Given the description of an element on the screen output the (x, y) to click on. 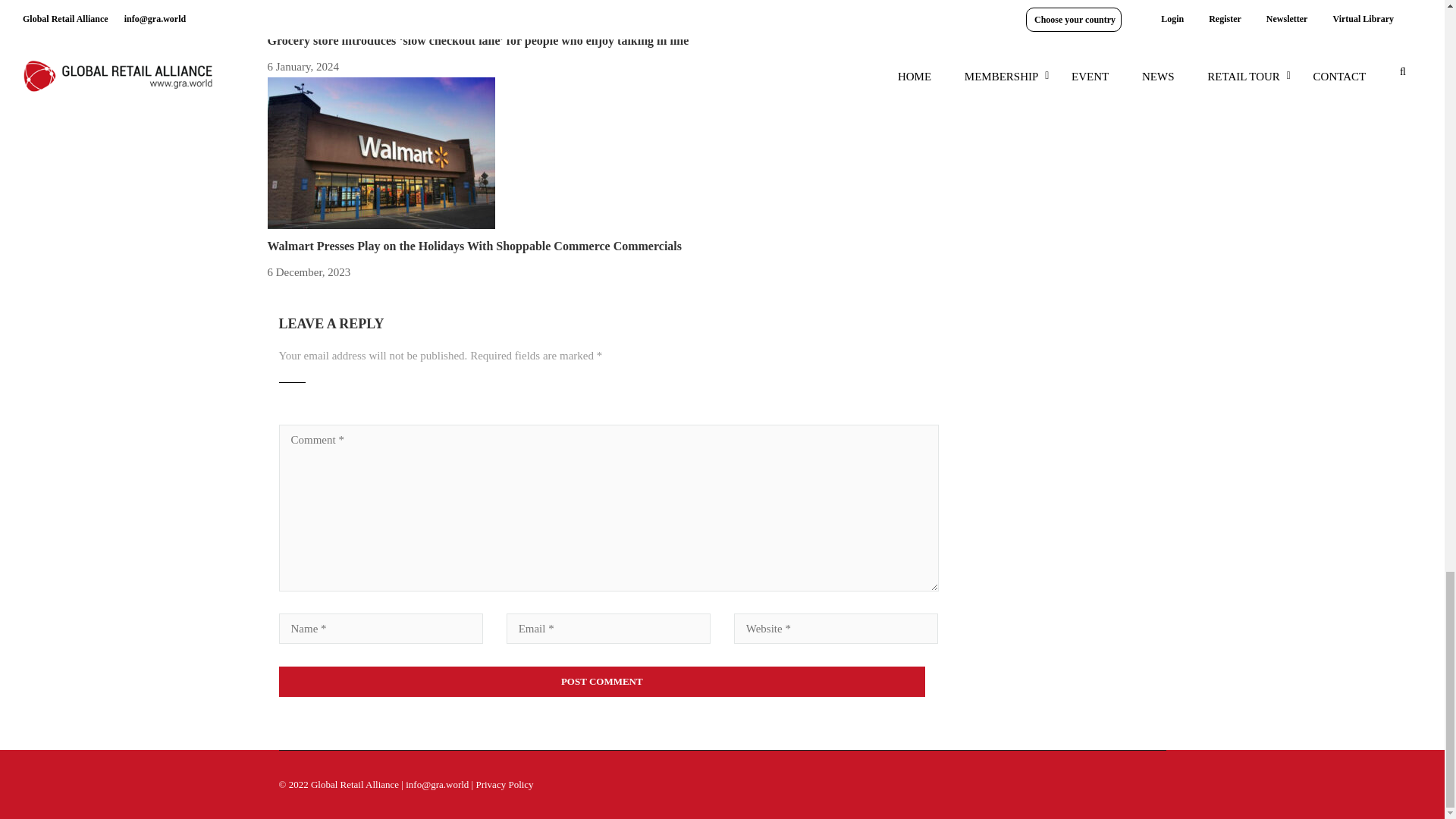
Senza-titolo-1 (380, 11)
Post Comment (602, 681)
walmart (380, 152)
